Given the description of an element on the screen output the (x, y) to click on. 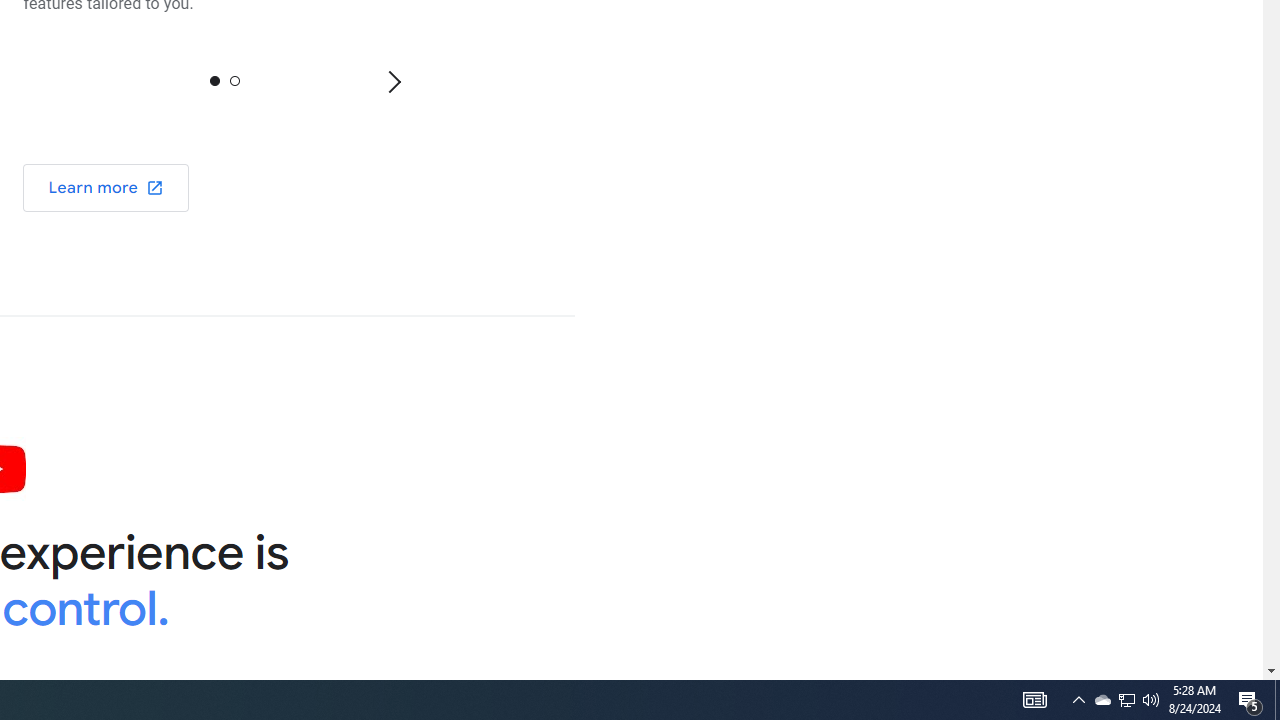
Learn more about Maps (106, 186)
Next (393, 80)
0 (214, 80)
1 (234, 80)
